Given the description of an element on the screen output the (x, y) to click on. 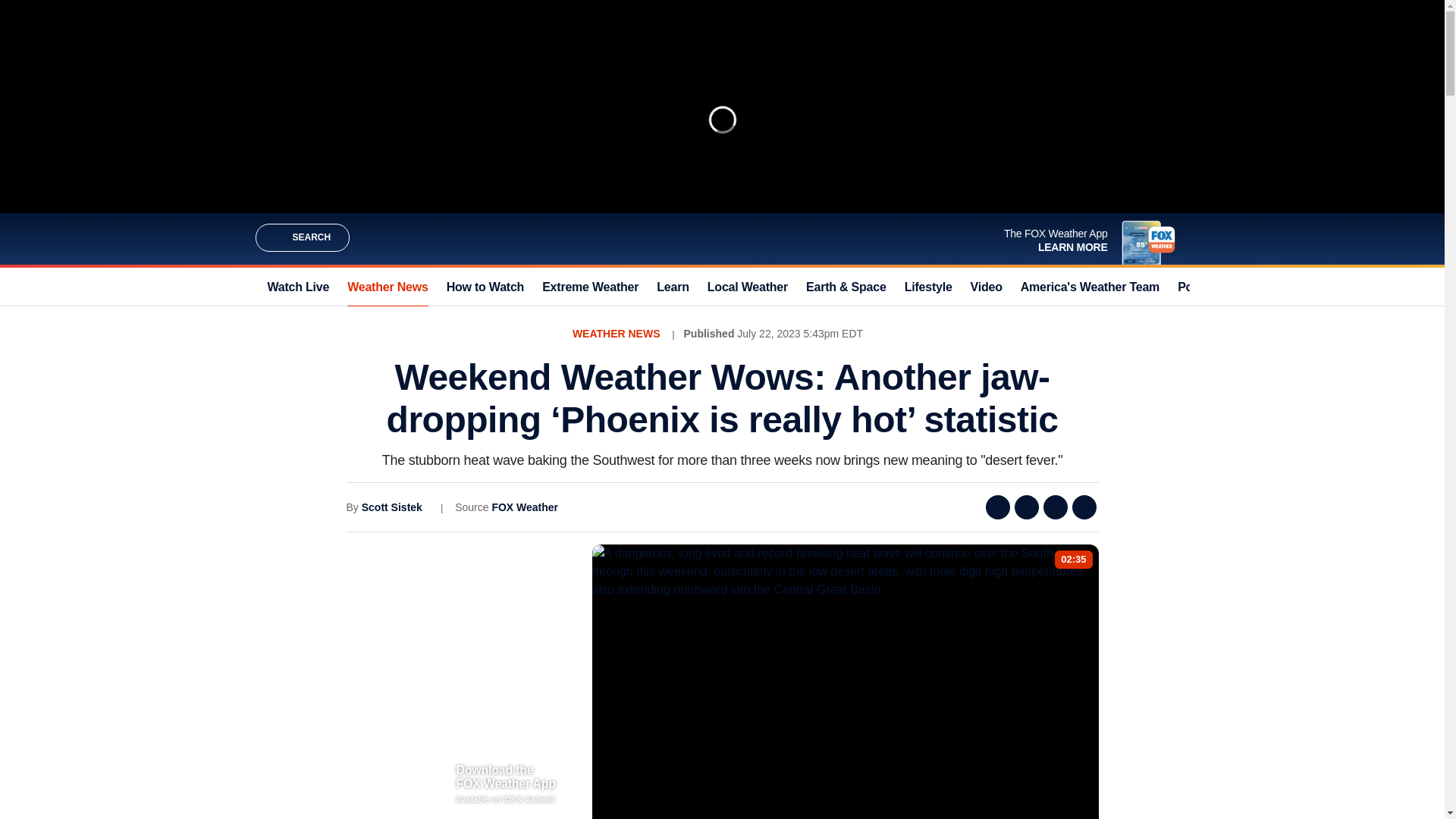
Extreme Weather (590, 286)
Learn (672, 286)
Weather News (387, 286)
Podcast (1200, 286)
Fox Weather (720, 238)
Watch Live (297, 286)
Lifestyle (928, 286)
Email (1055, 507)
Local Weather (747, 286)
Video (987, 286)
Scott Sistek (391, 507)
Twitter (1026, 507)
SEARCH (302, 237)
WEATHER NEWS (616, 333)
How to Watch (485, 286)
